Given the description of an element on the screen output the (x, y) to click on. 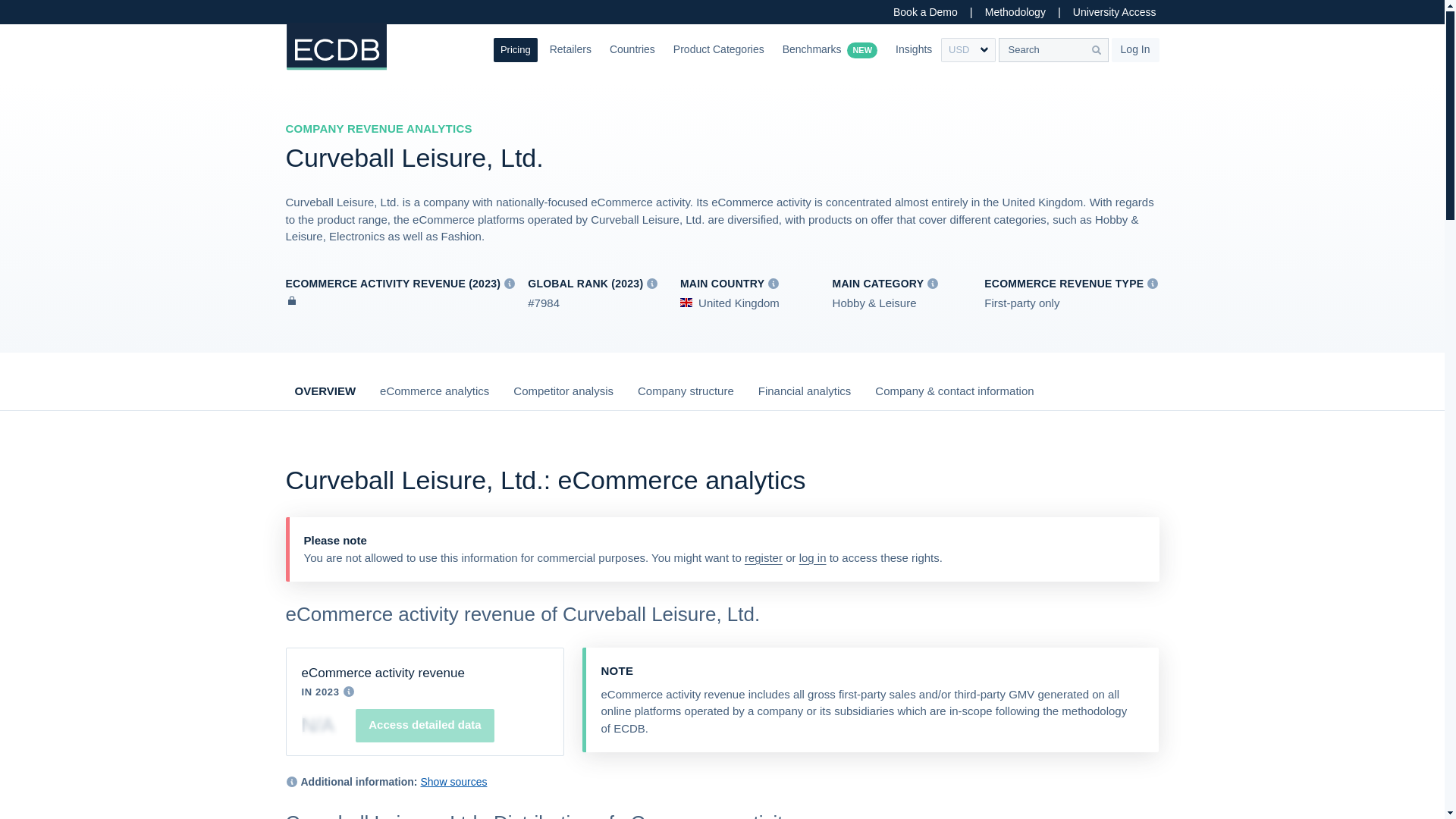
University Access (1114, 12)
Competitor analysis (562, 397)
Financial analytics (804, 397)
eCommerce analytics (434, 397)
OVERVIEW (324, 397)
Methodology (1015, 12)
Book a Demo (925, 12)
United Kingdom (728, 302)
register (763, 556)
